Given the description of an element on the screen output the (x, y) to click on. 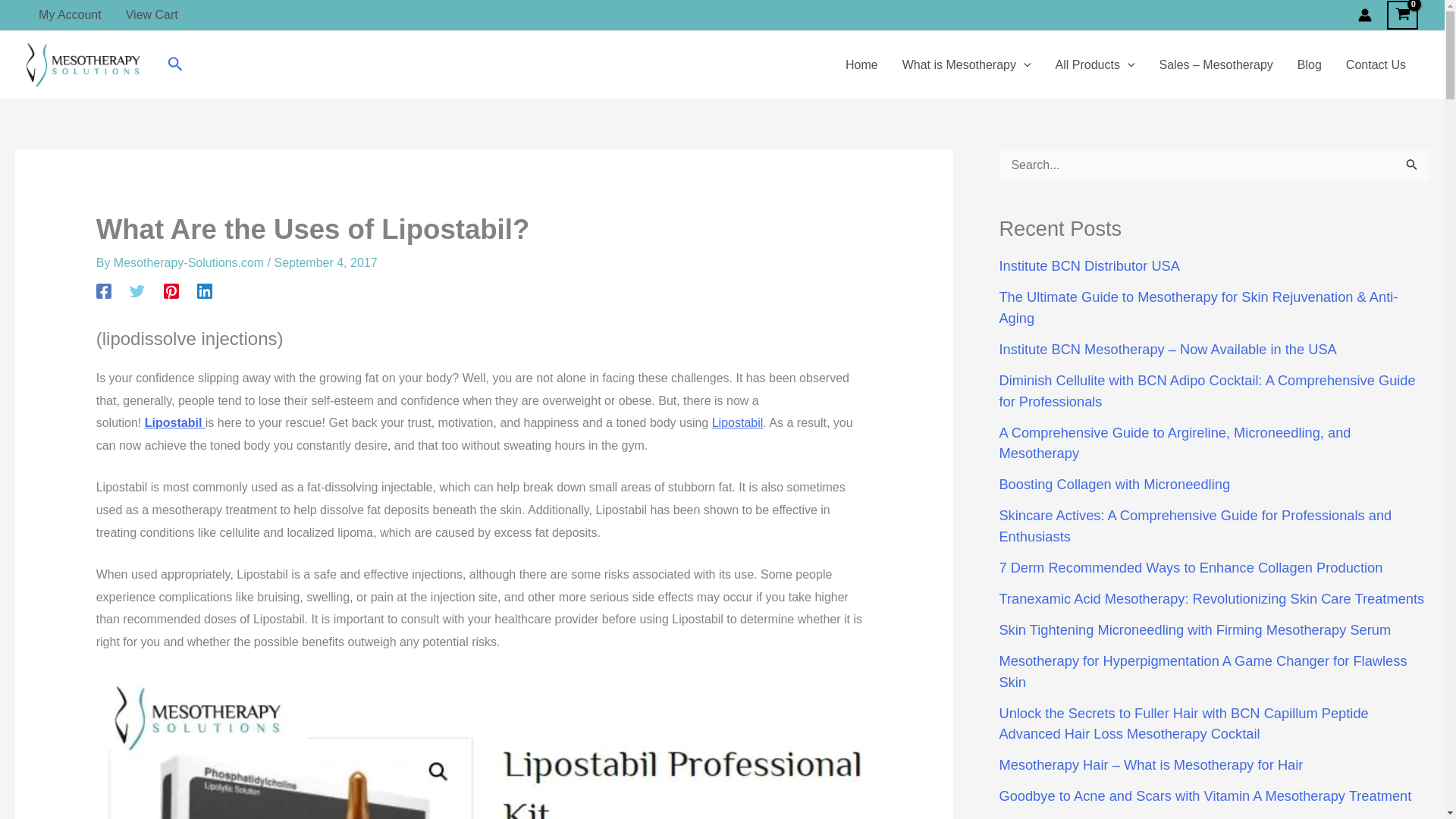
All Products (1095, 65)
Home (860, 65)
What is Mesotherapy (966, 65)
Contact Us (1375, 65)
My Account (69, 15)
View Cart (151, 15)
View all posts by Mesotherapy-Solutions.com (190, 262)
